Given the description of an element on the screen output the (x, y) to click on. 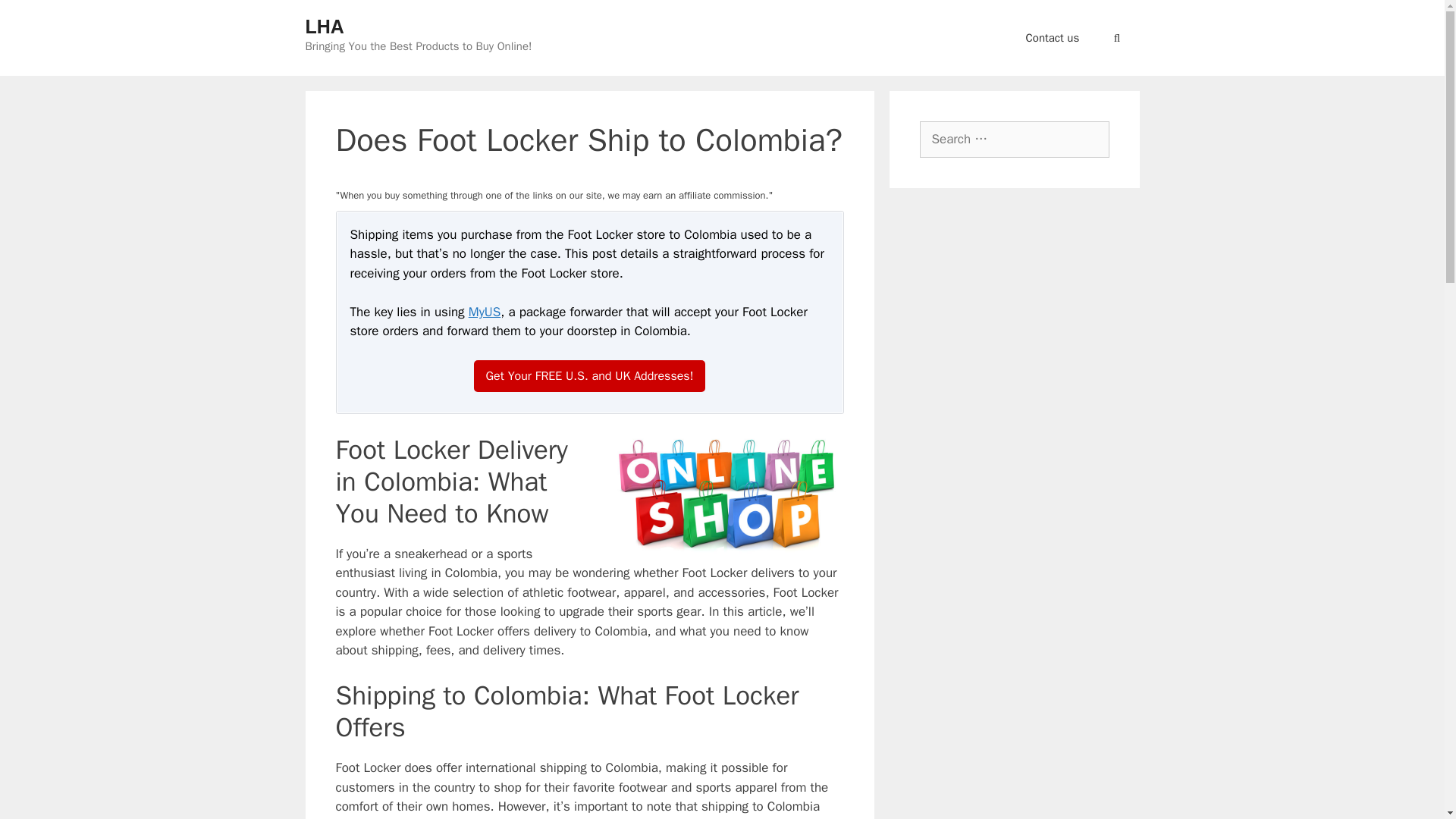
Get Your FREE U.S. and UK Addresses! (590, 376)
Search for: (1013, 139)
MyUS (484, 311)
Search (33, 15)
LHA (323, 25)
Contact us (1052, 37)
